Given the description of an element on the screen output the (x, y) to click on. 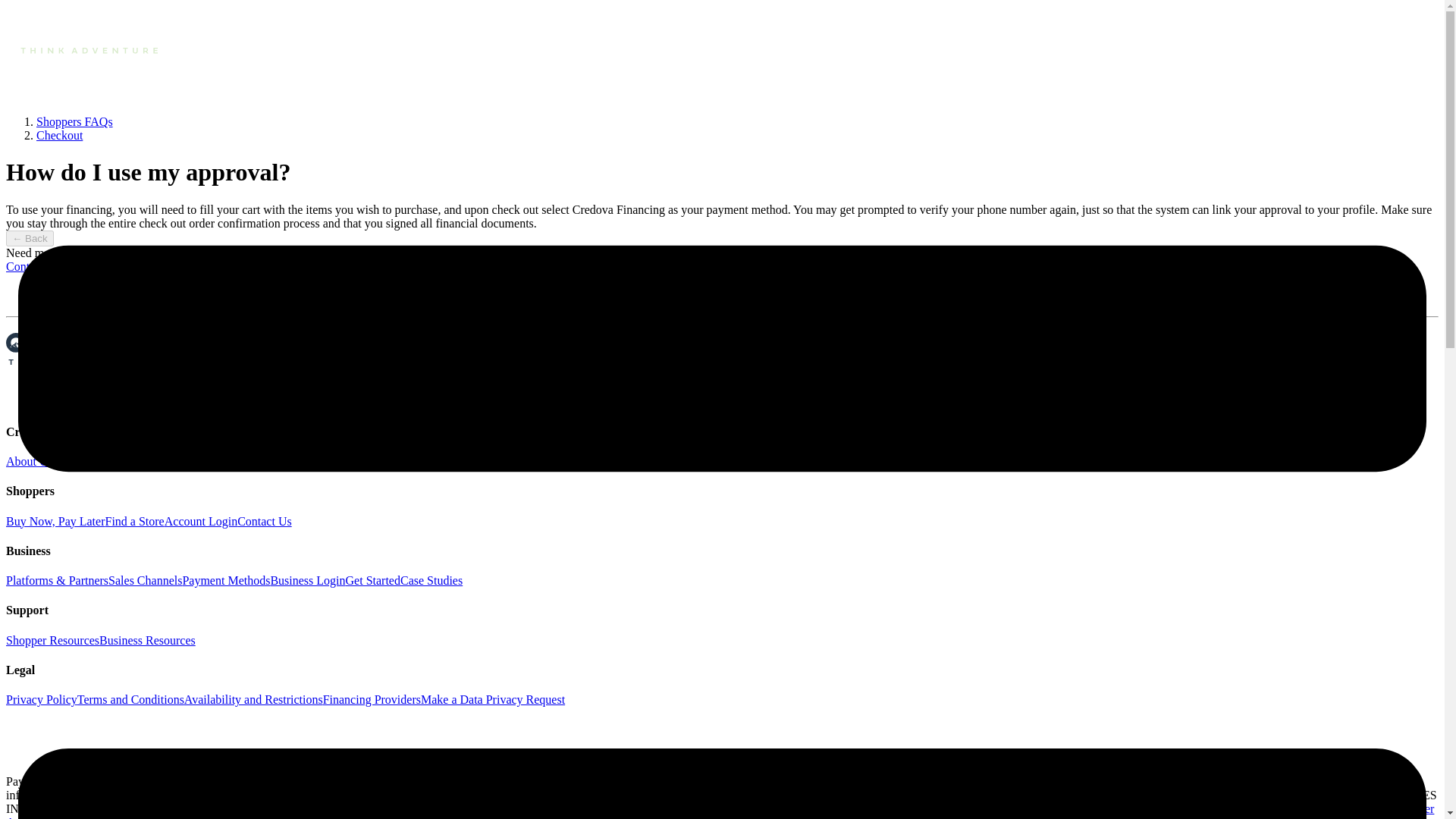
Payment Methods (225, 580)
Financing Providers (371, 698)
Availability and Restrictions (253, 698)
About Us (28, 461)
Careers (71, 461)
Business Resources (147, 640)
Find a Store (133, 521)
Shoppers FAQs (74, 121)
Case Studies (431, 580)
Business Login (307, 580)
